Given the description of an element on the screen output the (x, y) to click on. 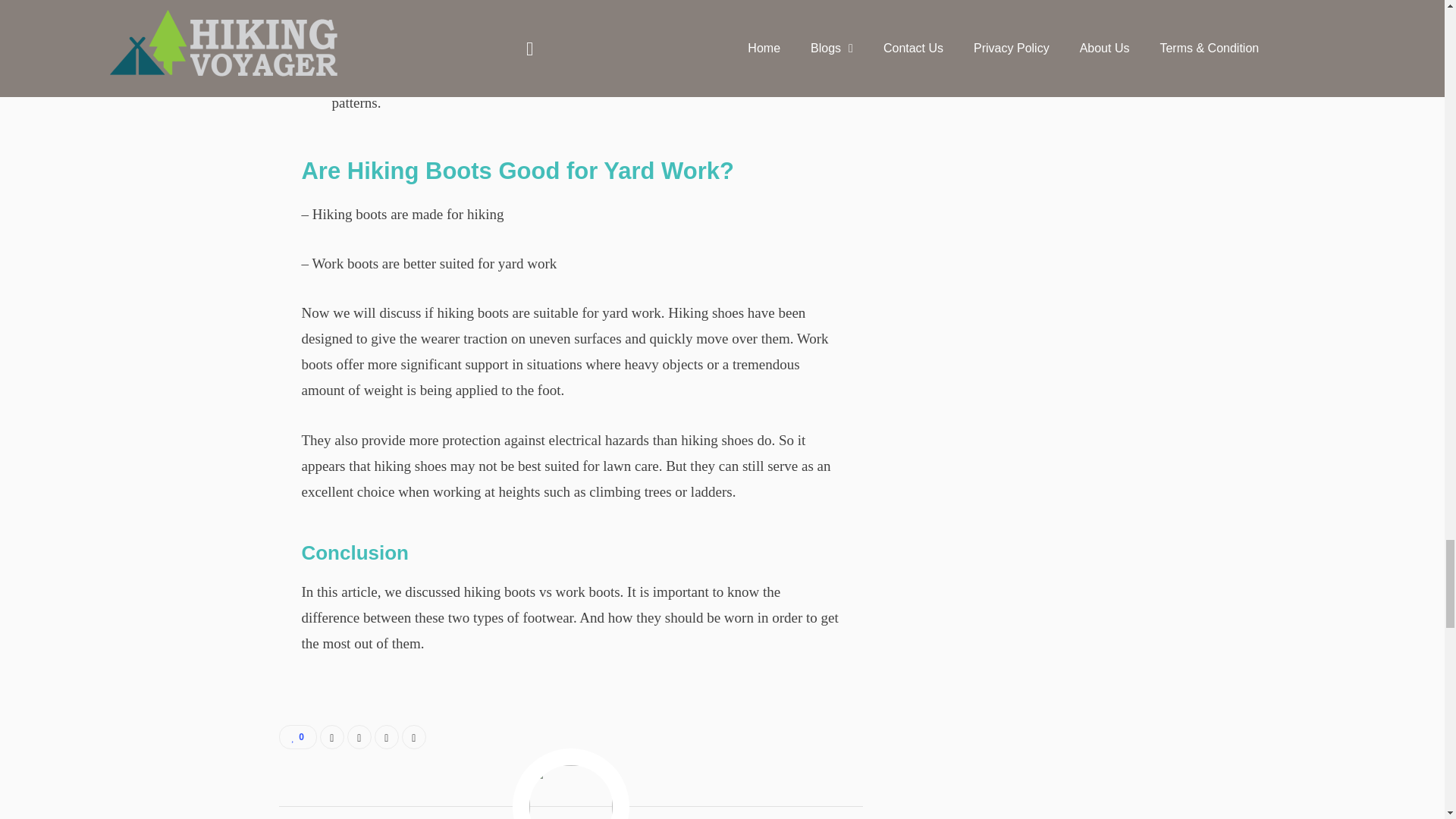
LinkedIn (386, 736)
Share on Facebook (331, 736)
Pinterest (413, 736)
Share on Twitter (359, 736)
